Given the description of an element on the screen output the (x, y) to click on. 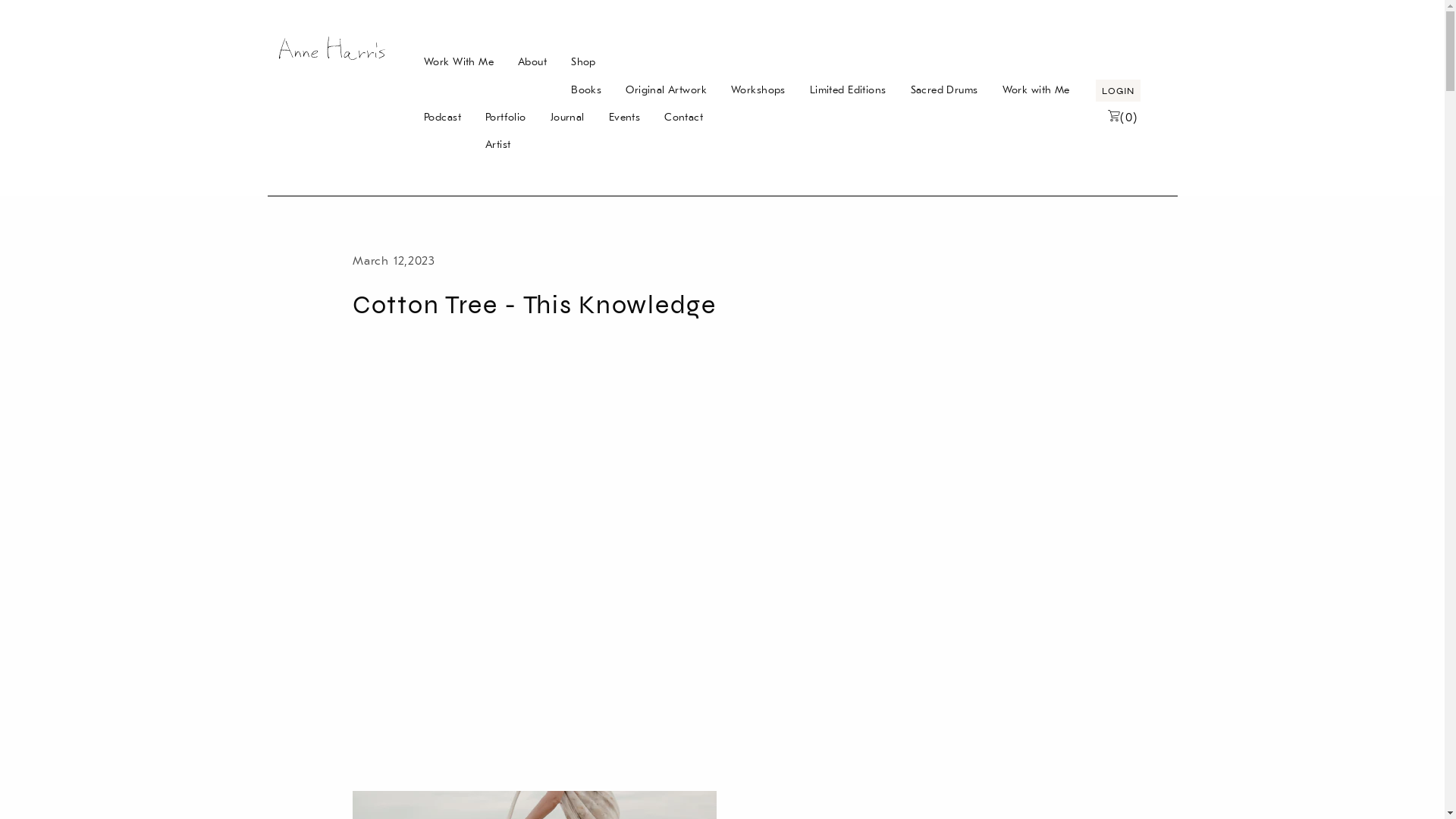
Original Artwork (665, 89)
Events (624, 117)
Work With Me (458, 62)
Workshops (758, 89)
LOGIN (1118, 90)
Shop (820, 62)
Sacred Drums (944, 89)
Books (585, 89)
Contact (683, 117)
Portfolio (505, 117)
